Given the description of an element on the screen output the (x, y) to click on. 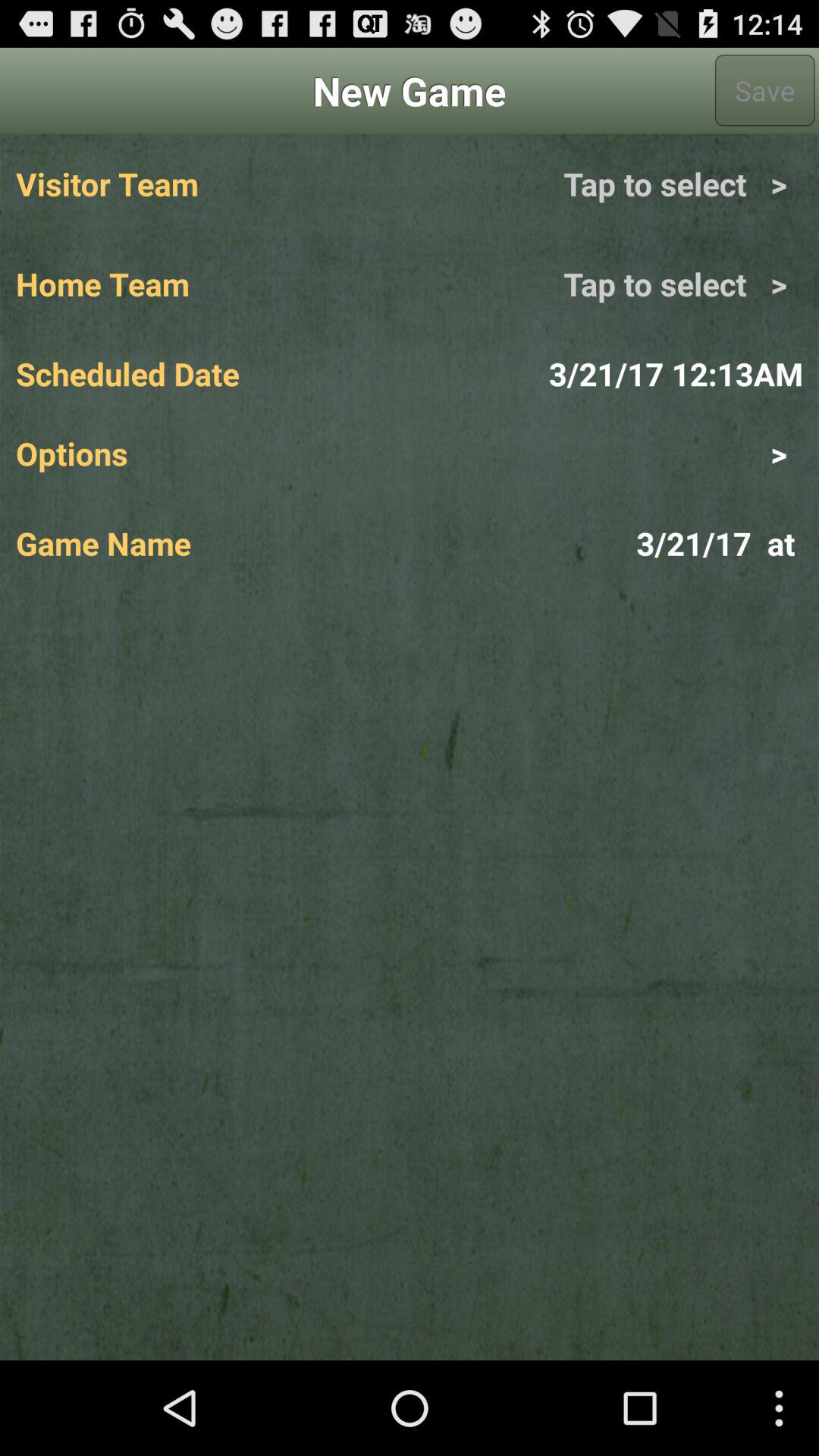
open >   icon (606, 452)
